Given the description of an element on the screen output the (x, y) to click on. 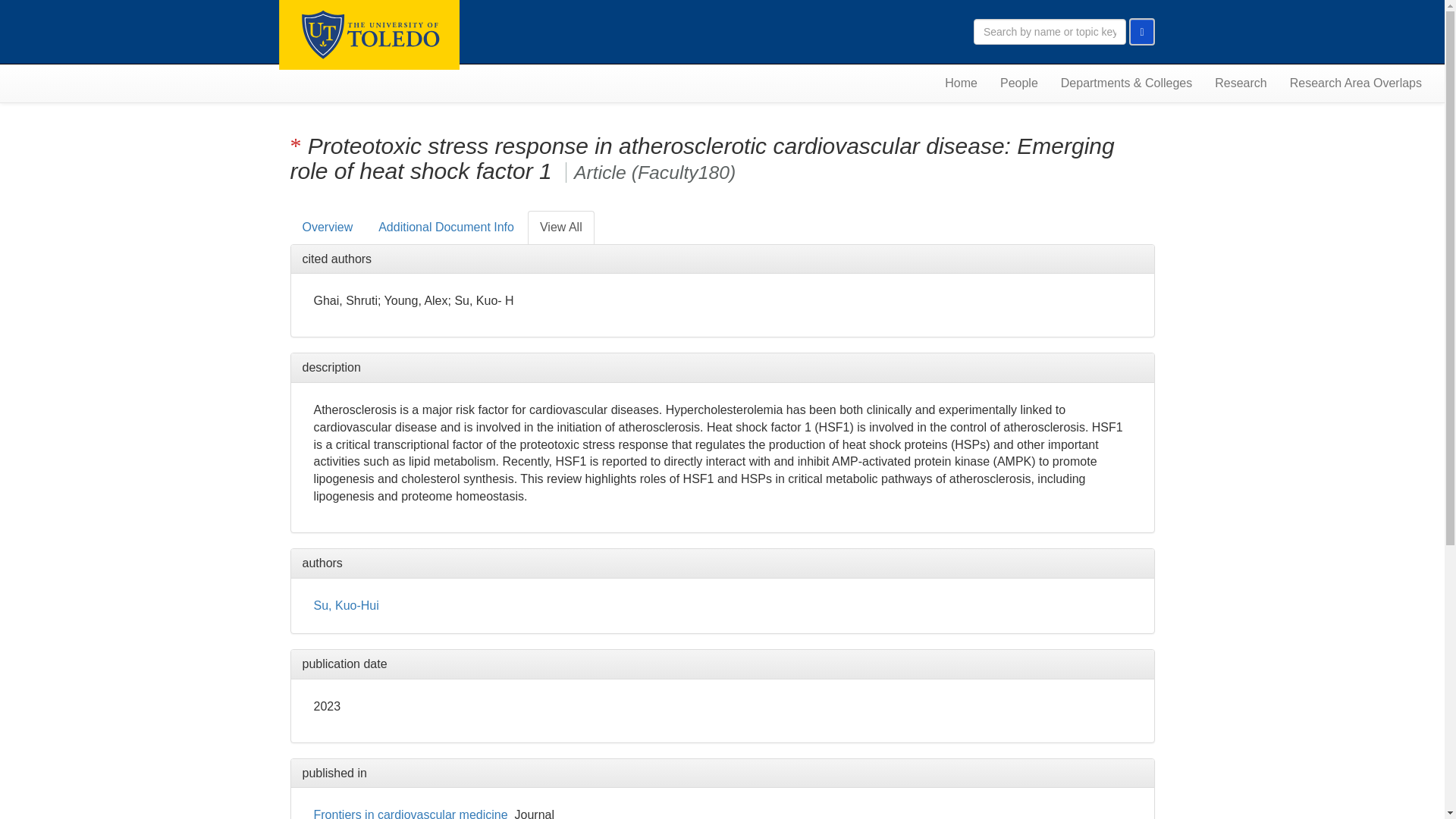
Research menu item (1241, 83)
author name (346, 604)
Su, Kuo-Hui (346, 604)
People (1018, 83)
View All (560, 227)
Home menu item (960, 83)
Home (960, 83)
name (411, 813)
Additional Document Info (445, 227)
Frontiers in cardiovascular medicine (411, 813)
Overview (327, 227)
People menu item (1018, 83)
Research Area Overlaps (1355, 83)
Research Area Overlaps menu item (1355, 83)
Research (1241, 83)
